Given the description of an element on the screen output the (x, y) to click on. 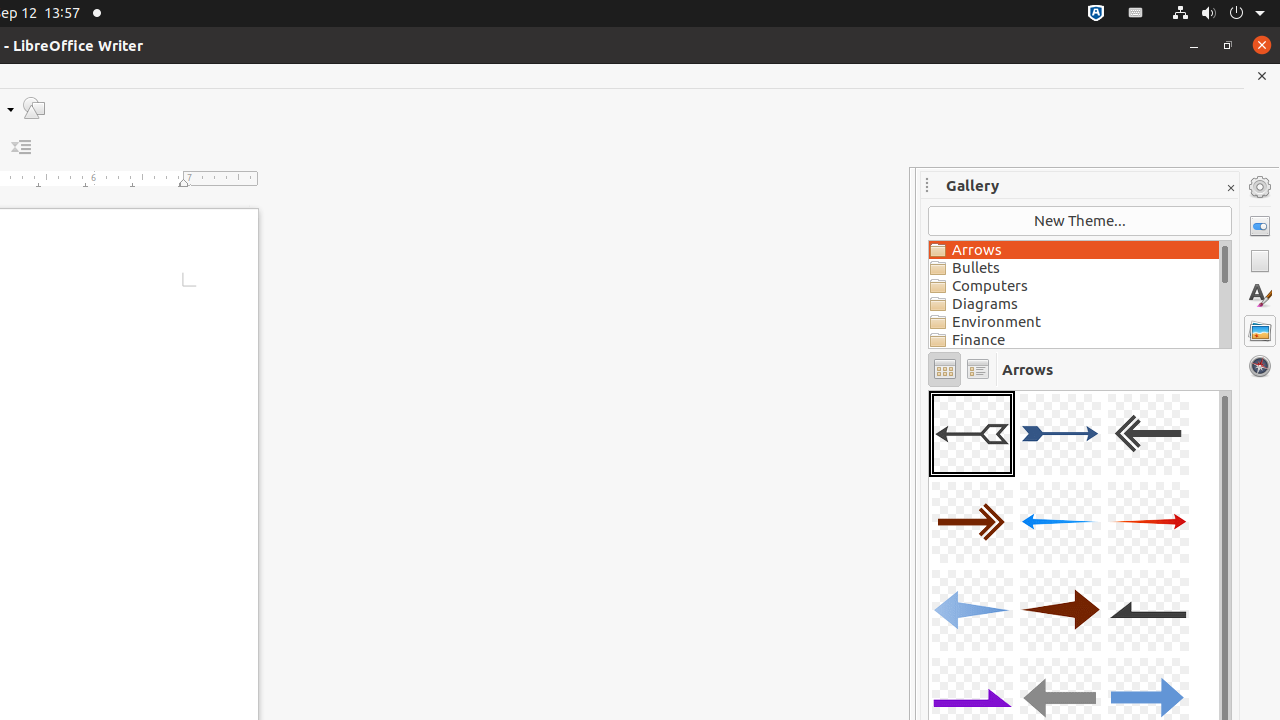
Page Element type: radio-button (1260, 261)
Styles Element type: radio-button (1260, 296)
A07-Arrow-LightBlue-Left Element type: list-item (972, 610)
A01-Arrow-Gray-Left Element type: list-item (972, 433)
A35-CurvedArrow-Brown-Left Element type: list-item (929, 390)
